Given the description of an element on the screen output the (x, y) to click on. 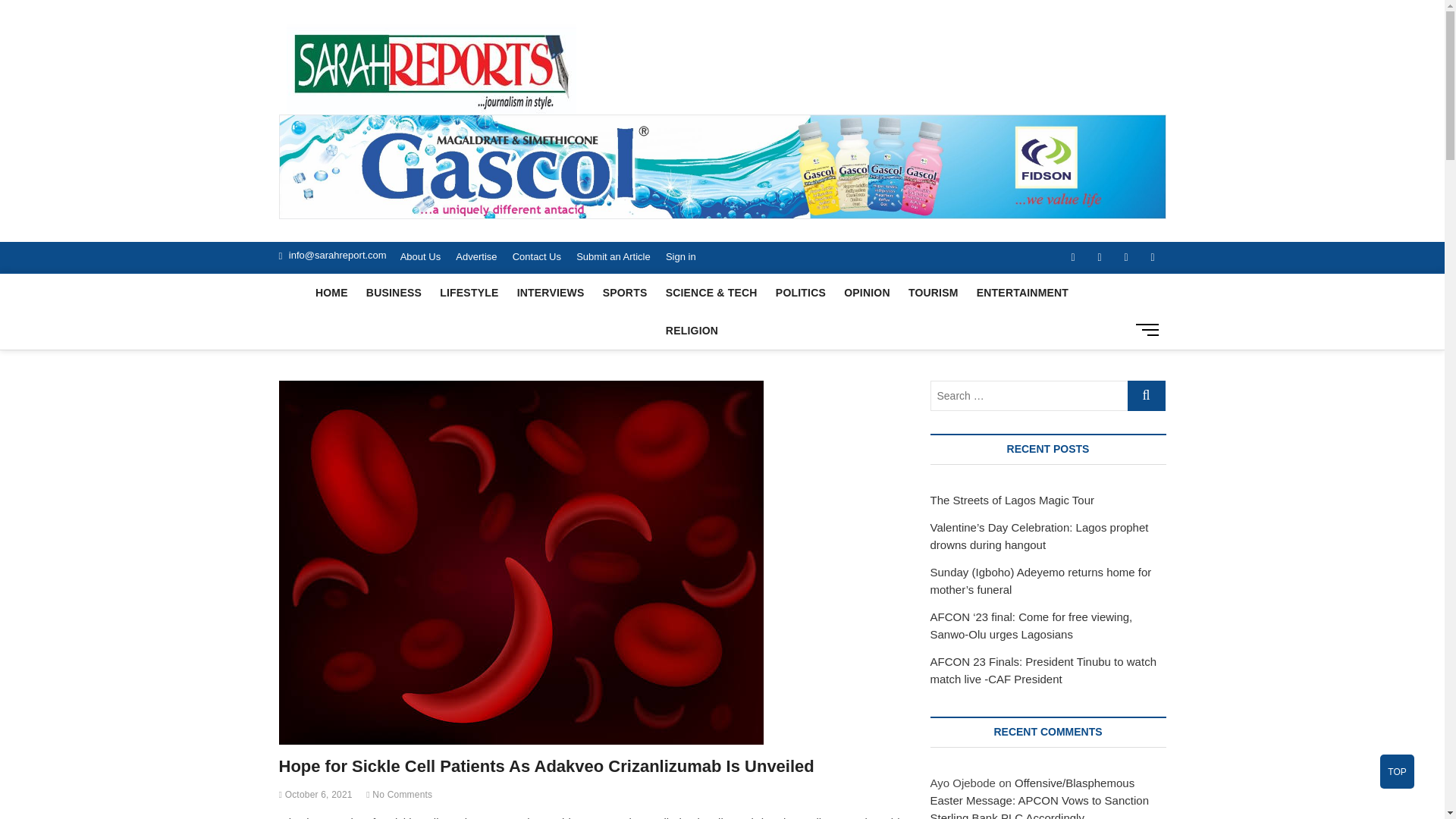
SPORTS (625, 292)
POLITICS (800, 292)
OPINION (866, 292)
Submit an Article (613, 256)
October 6, 2021 (315, 794)
RELIGION (691, 330)
HOME (331, 292)
TOURISM (933, 292)
Contact Us (536, 256)
facebook (1072, 257)
